Given the description of an element on the screen output the (x, y) to click on. 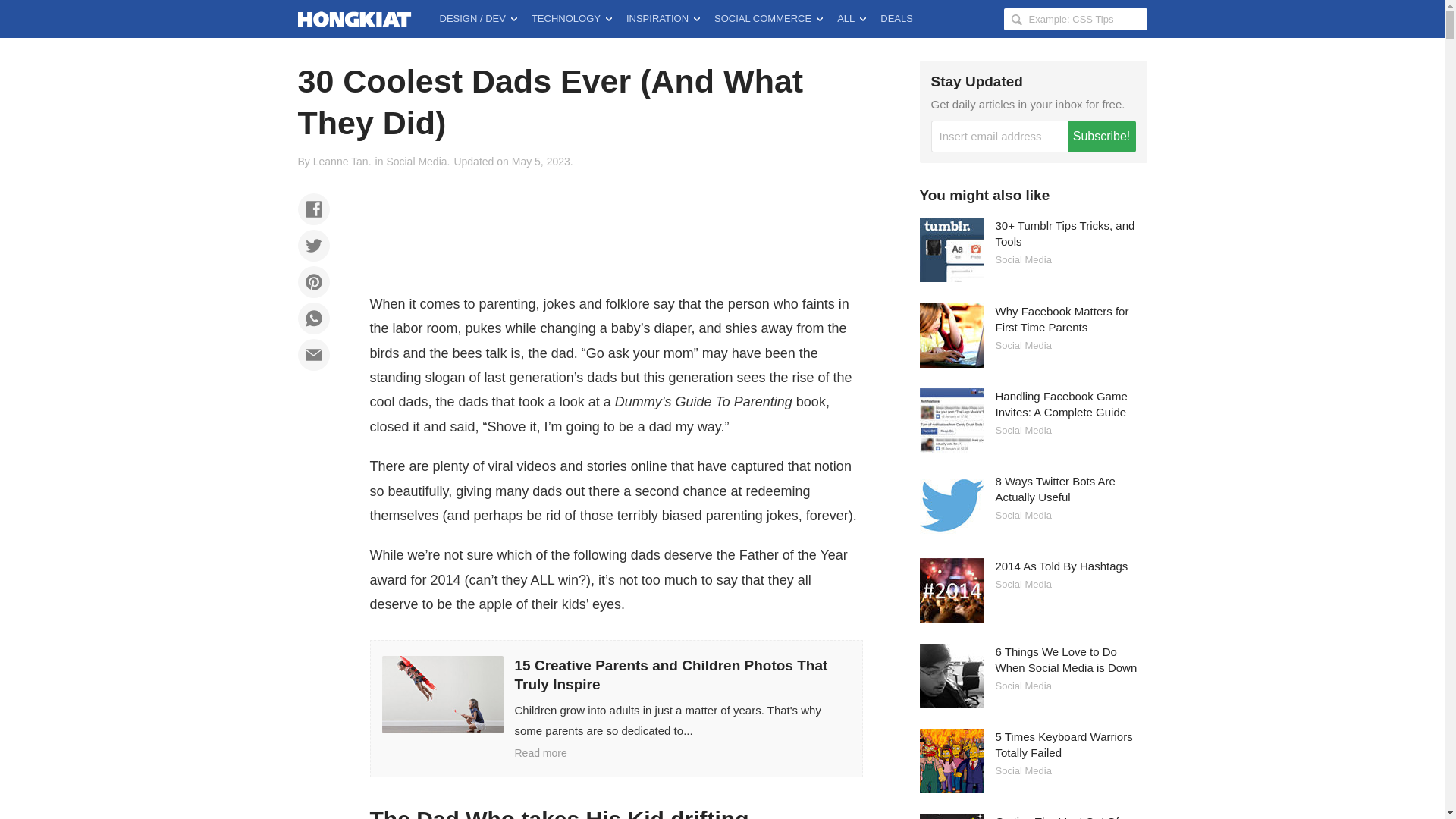
15 Creative Parents and Children Photos That Truly Inspire (615, 708)
INSPIRATION (662, 18)
Advertisement (616, 227)
TECHNOLOGY (571, 18)
DEALS (896, 18)
Leanne Tan (340, 161)
Social Media (415, 161)
SOCIAL COMMERCE (767, 18)
Search Hongkiat for (1075, 18)
